Given the description of an element on the screen output the (x, y) to click on. 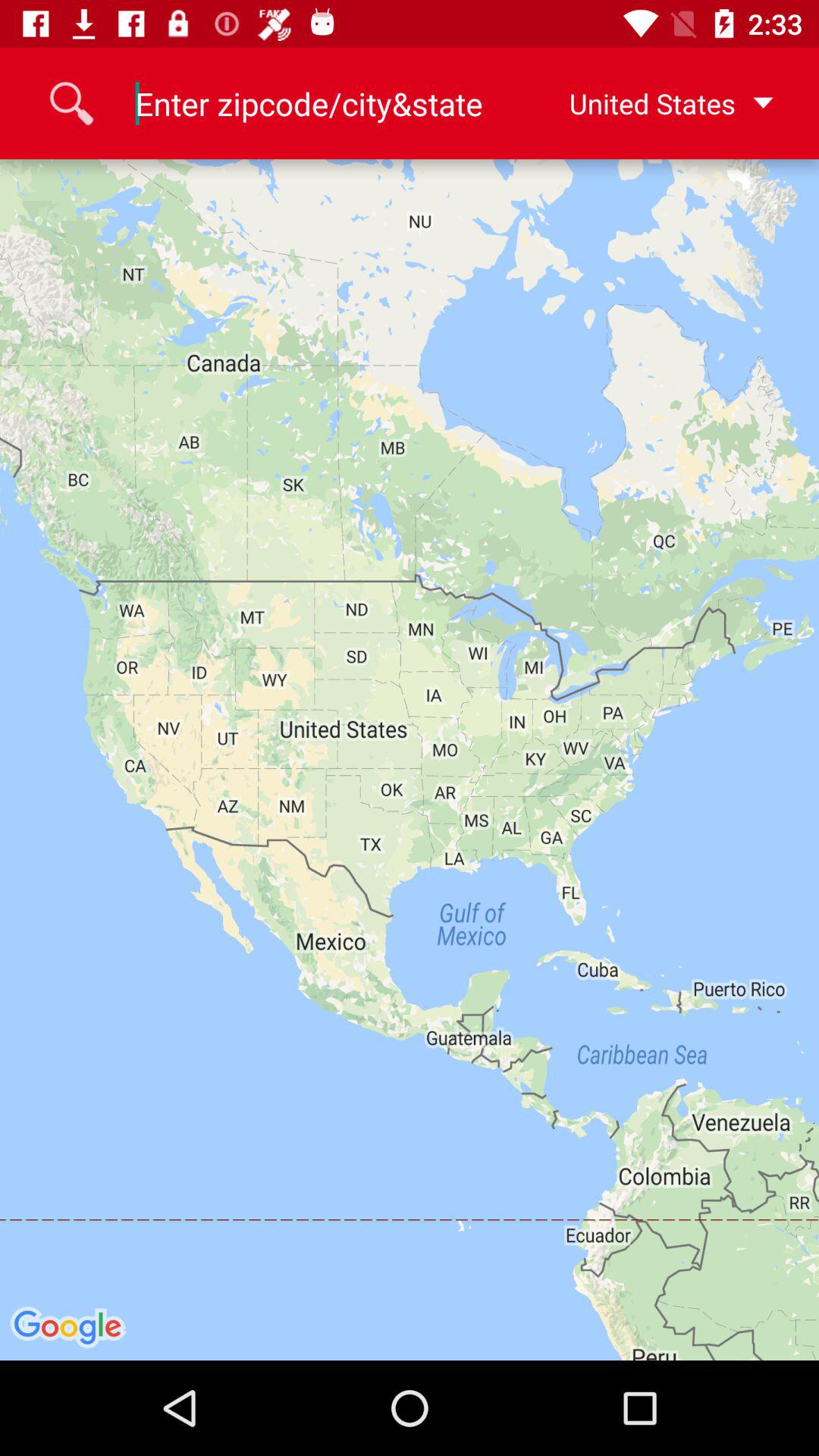
swipe until the united states item (647, 103)
